Given the description of an element on the screen output the (x, y) to click on. 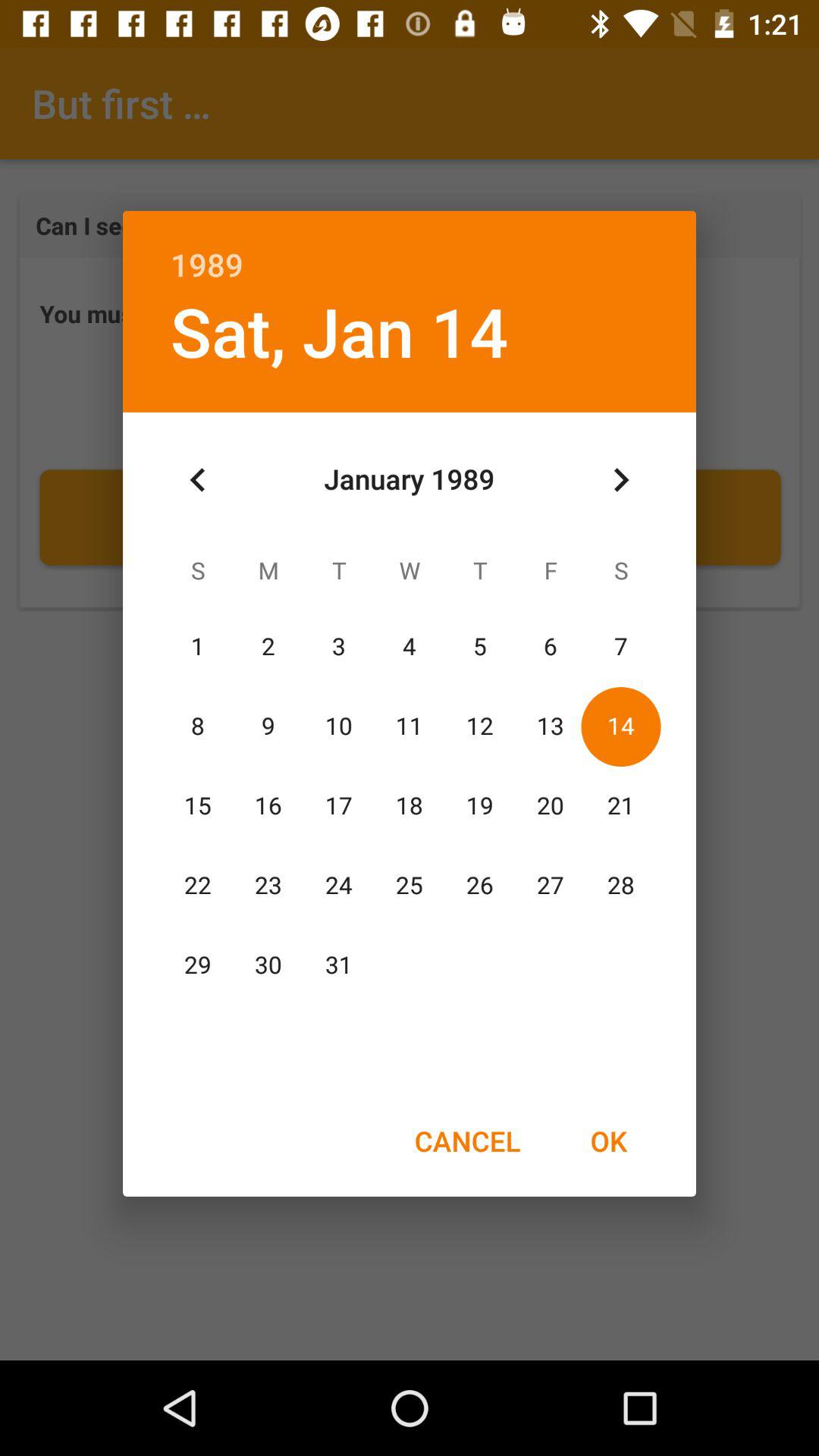
swipe to the 1989 item (409, 248)
